Given the description of an element on the screen output the (x, y) to click on. 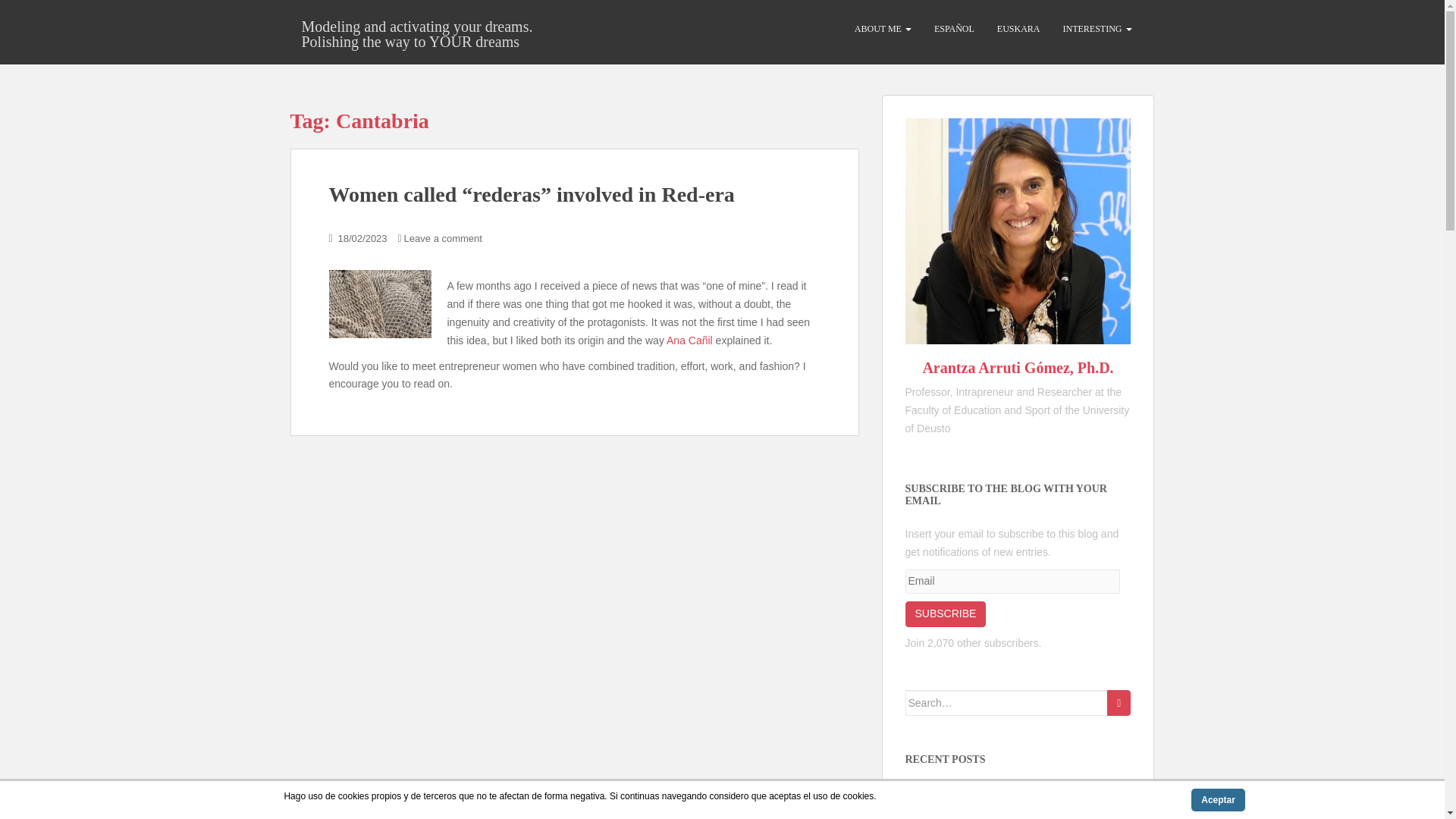
About me (883, 28)
Modeling and activating your dreams. (416, 26)
EUSKARA (1018, 28)
Euskara (1018, 28)
ABOUT ME (883, 28)
Search for: (1006, 702)
SUBSCRIBE (946, 614)
Interesting (1096, 28)
Search (1118, 702)
